Given the description of an element on the screen output the (x, y) to click on. 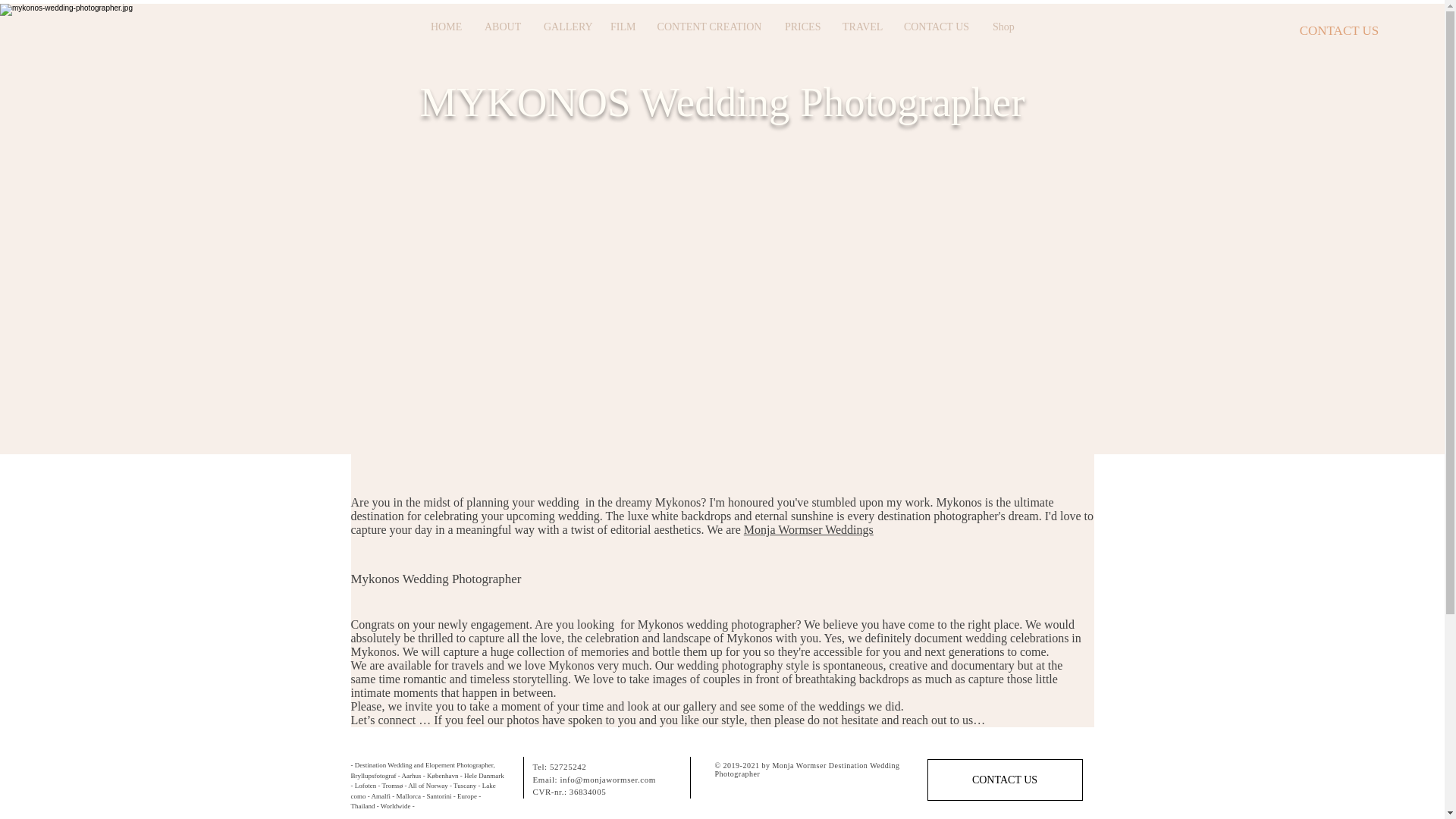
GALLERY (565, 26)
TRAVEL (861, 26)
CONTACT US (1339, 30)
CONTENT CREATION (709, 26)
CONTACT US (1003, 779)
ABOUT (502, 26)
HOME (446, 26)
FILM (621, 26)
CONTACT US (936, 26)
Shop (1003, 26)
